Given the description of an element on the screen output the (x, y) to click on. 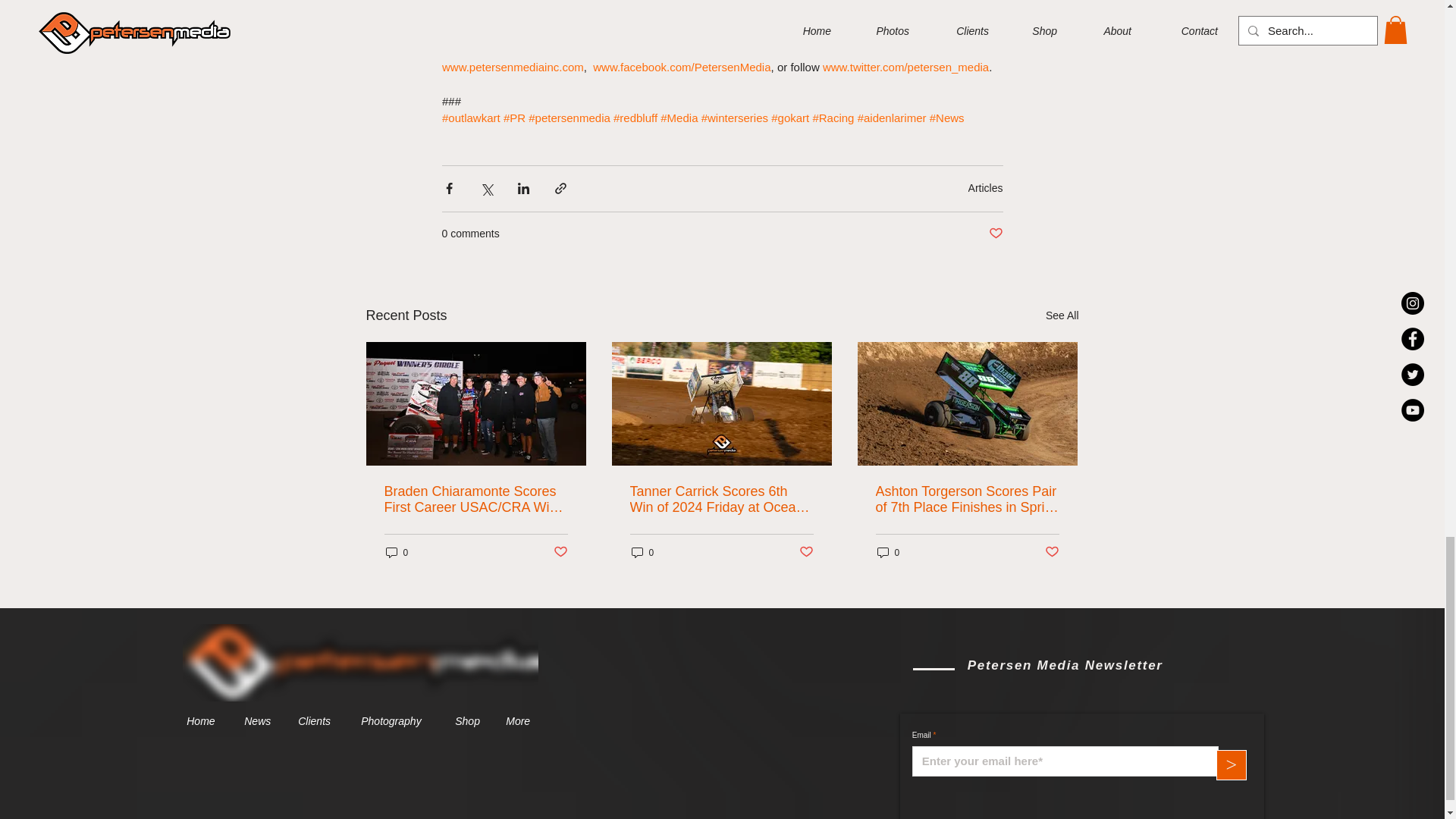
See All (1061, 315)
Post not marked as liked (995, 233)
Articles (985, 187)
0 (396, 552)
www.petersenmediainc.com (512, 66)
